Given the description of an element on the screen output the (x, y) to click on. 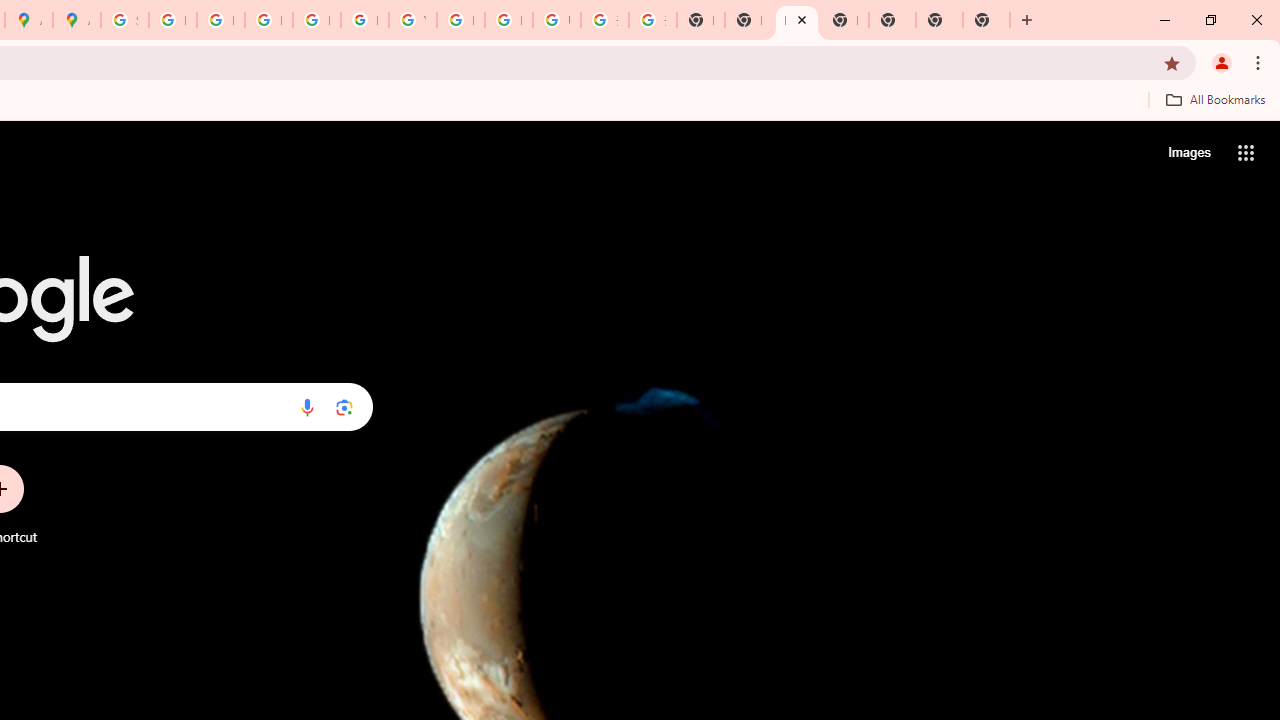
Privacy Help Center - Policies Help (220, 20)
Search for Images  (1188, 152)
New Tab (844, 20)
New Tab (939, 20)
All Bookmarks (1215, 99)
YouTube (412, 20)
